Given the description of an element on the screen output the (x, y) to click on. 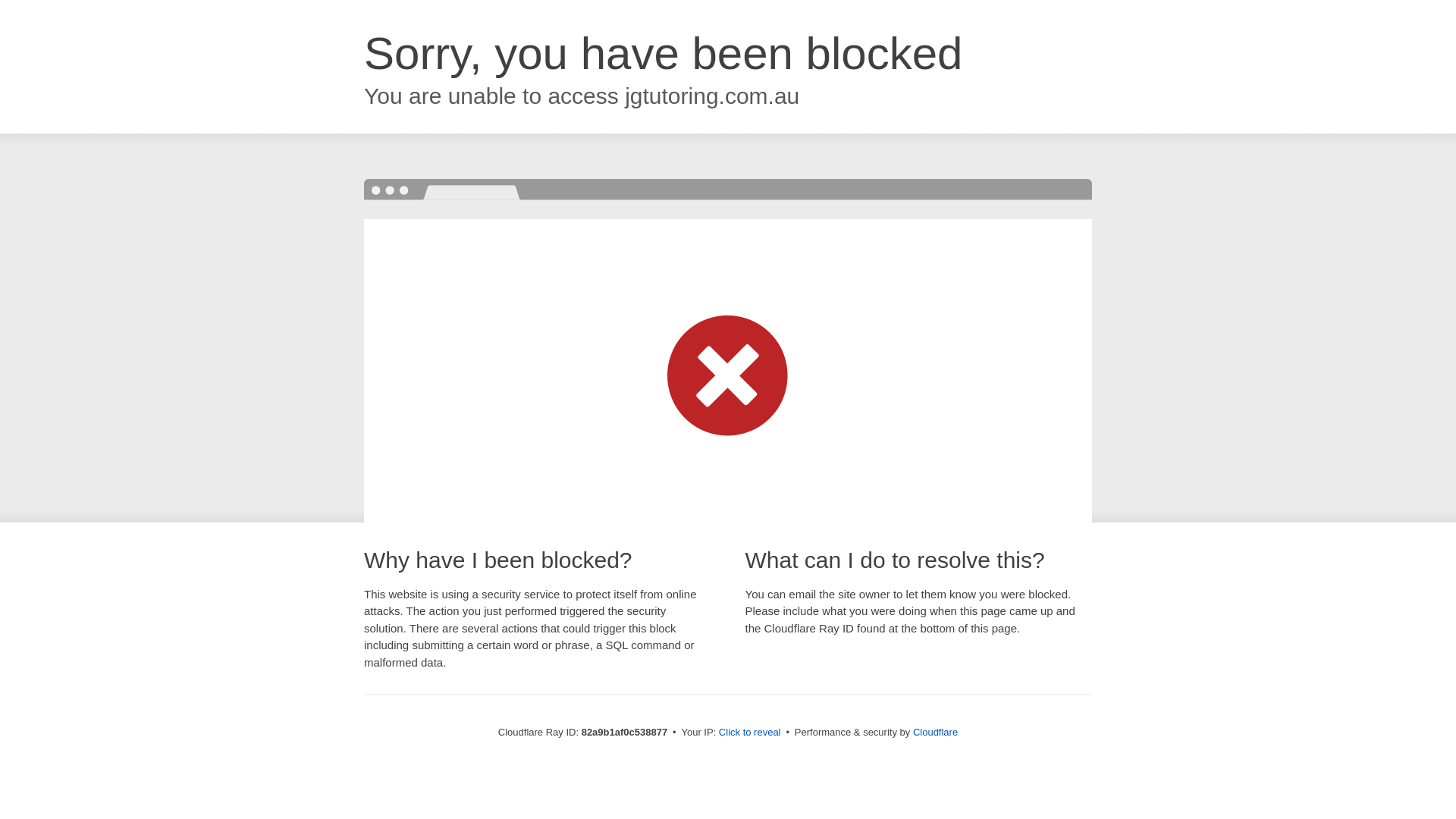
Click to reveal Element type: text (749, 732)
Cloudflare Element type: text (935, 731)
